Given the description of an element on the screen output the (x, y) to click on. 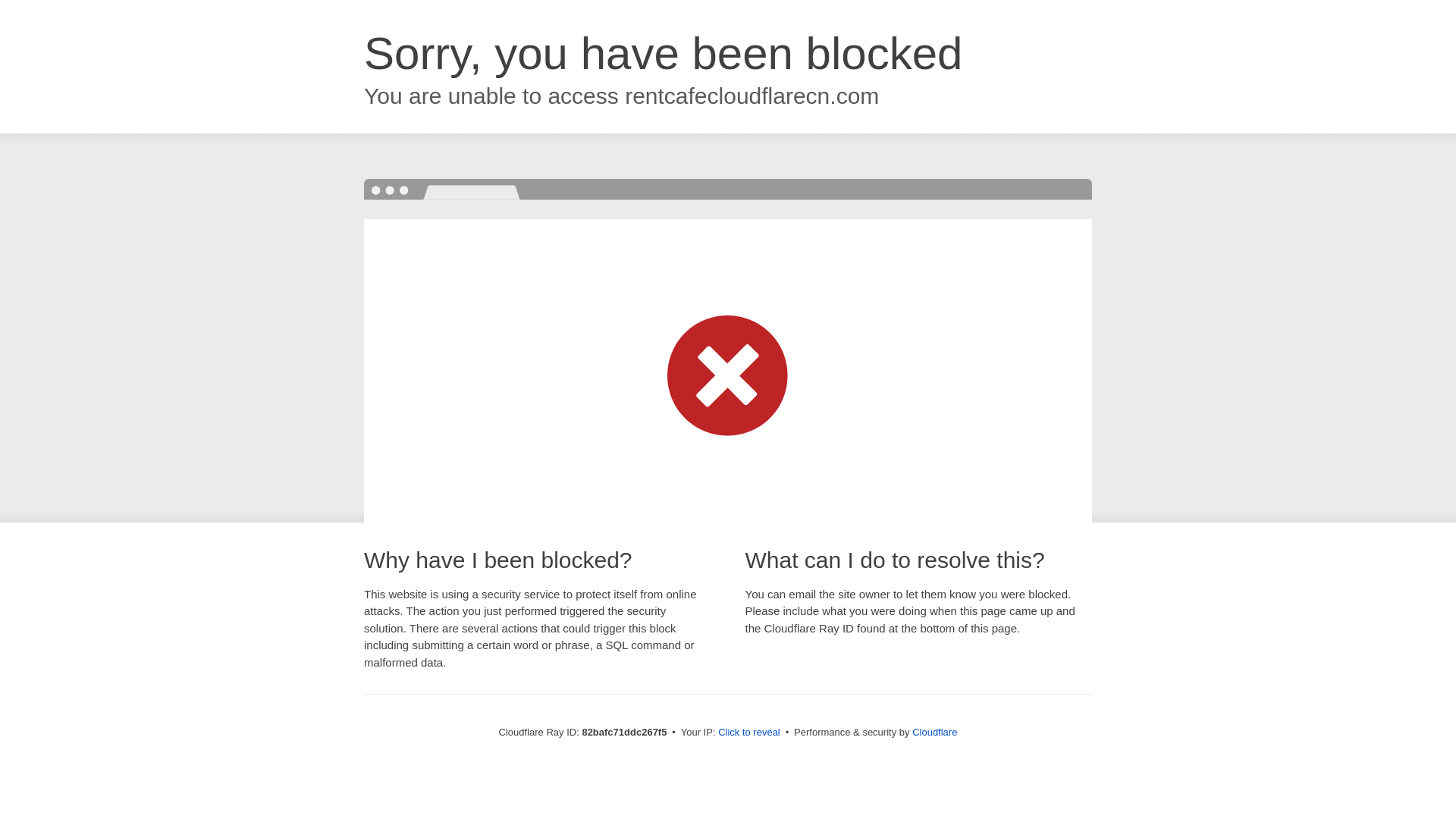
Click to reveal Element type: text (749, 732)
Cloudflare Element type: text (934, 731)
